Given the description of an element on the screen output the (x, y) to click on. 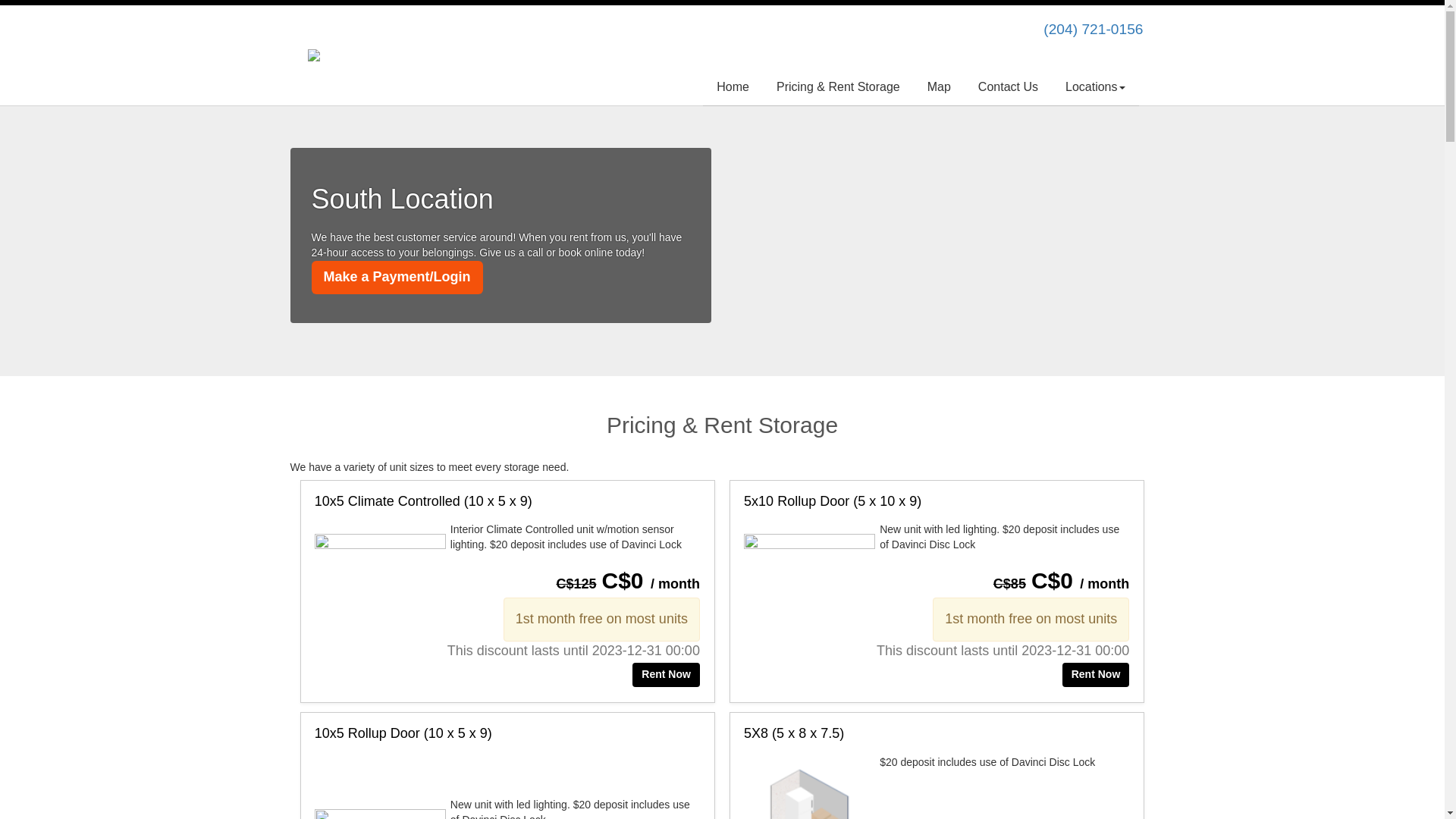
Locations Element type: text (1095, 87)
Map Element type: text (938, 87)
Rent Now Element type: text (665, 674)
(204) 721-0156 Element type: text (1092, 28)
Make a Payment/Login Element type: text (396, 277)
Rent Now Element type: text (1095, 674)
Pricing & Rent Storage Element type: text (837, 87)
Home Element type: text (732, 87)
Contact Us Element type: text (1007, 87)
